Given the description of an element on the screen output the (x, y) to click on. 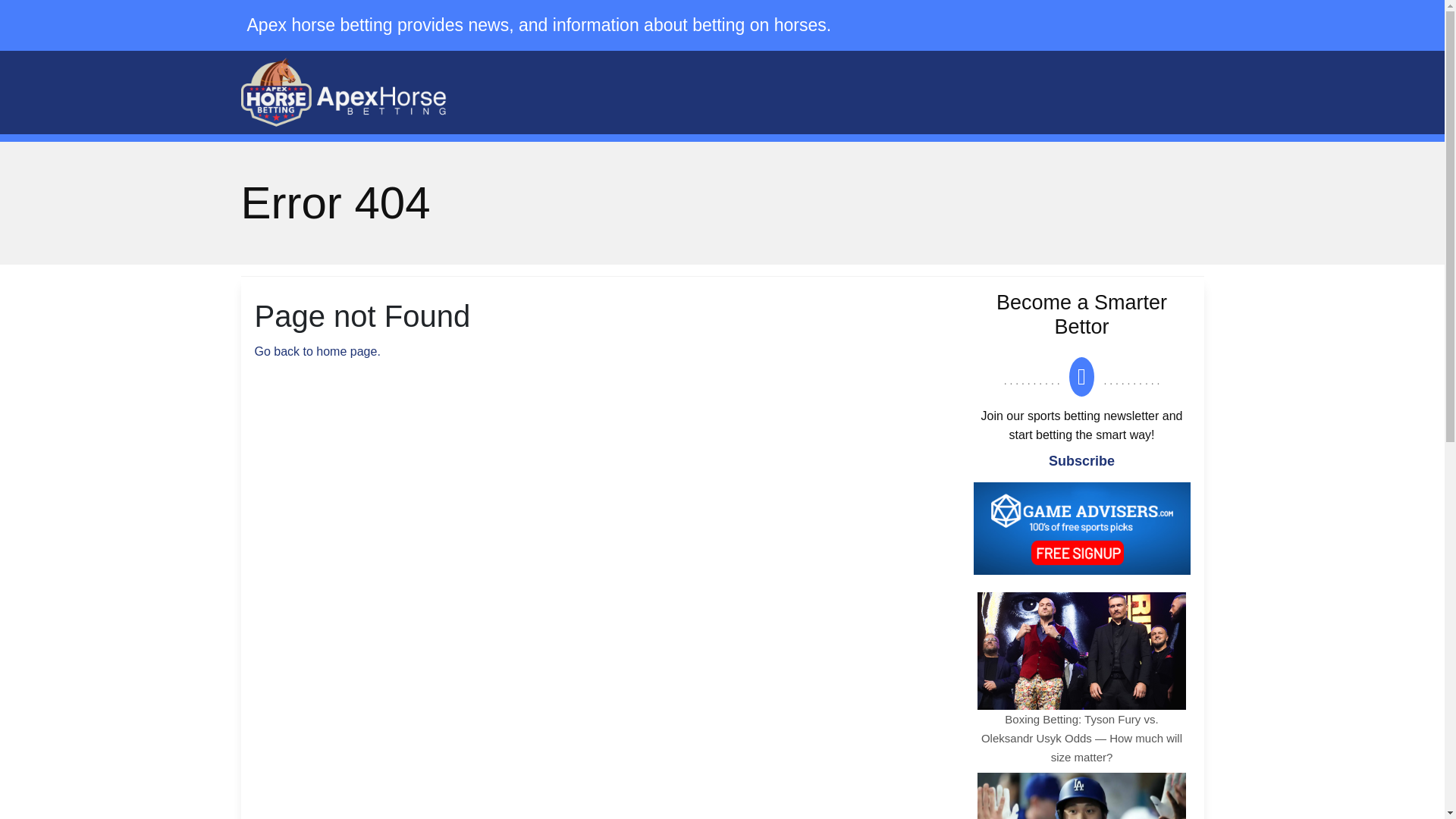
Go back to home page. (317, 350)
Subscribe (1081, 460)
